Given the description of an element on the screen output the (x, y) to click on. 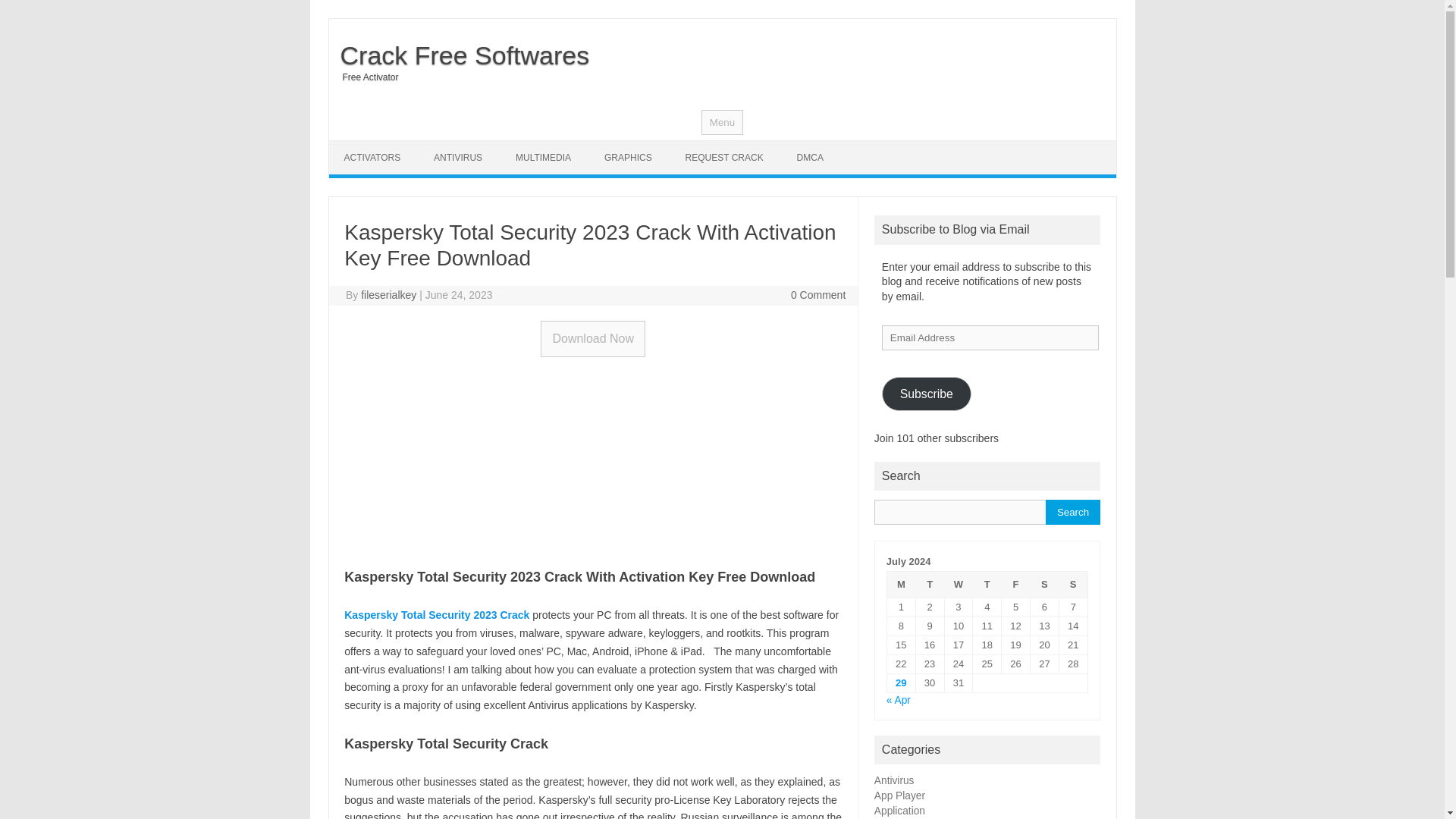
Free Activator (363, 77)
Thursday (986, 584)
Tuesday (929, 584)
Subscribe (926, 393)
Saturday (1043, 584)
Crack Free Softwares (459, 54)
DMCA (809, 157)
Wednesday (957, 584)
Kaspersky Total Security 2023 Crack (436, 614)
Posts by fileserialkey (388, 295)
MULTIMEDIA (543, 157)
Crack Free Softwares (459, 54)
Download Now (592, 339)
ANTIVIRUS (458, 157)
